Given the description of an element on the screen output the (x, y) to click on. 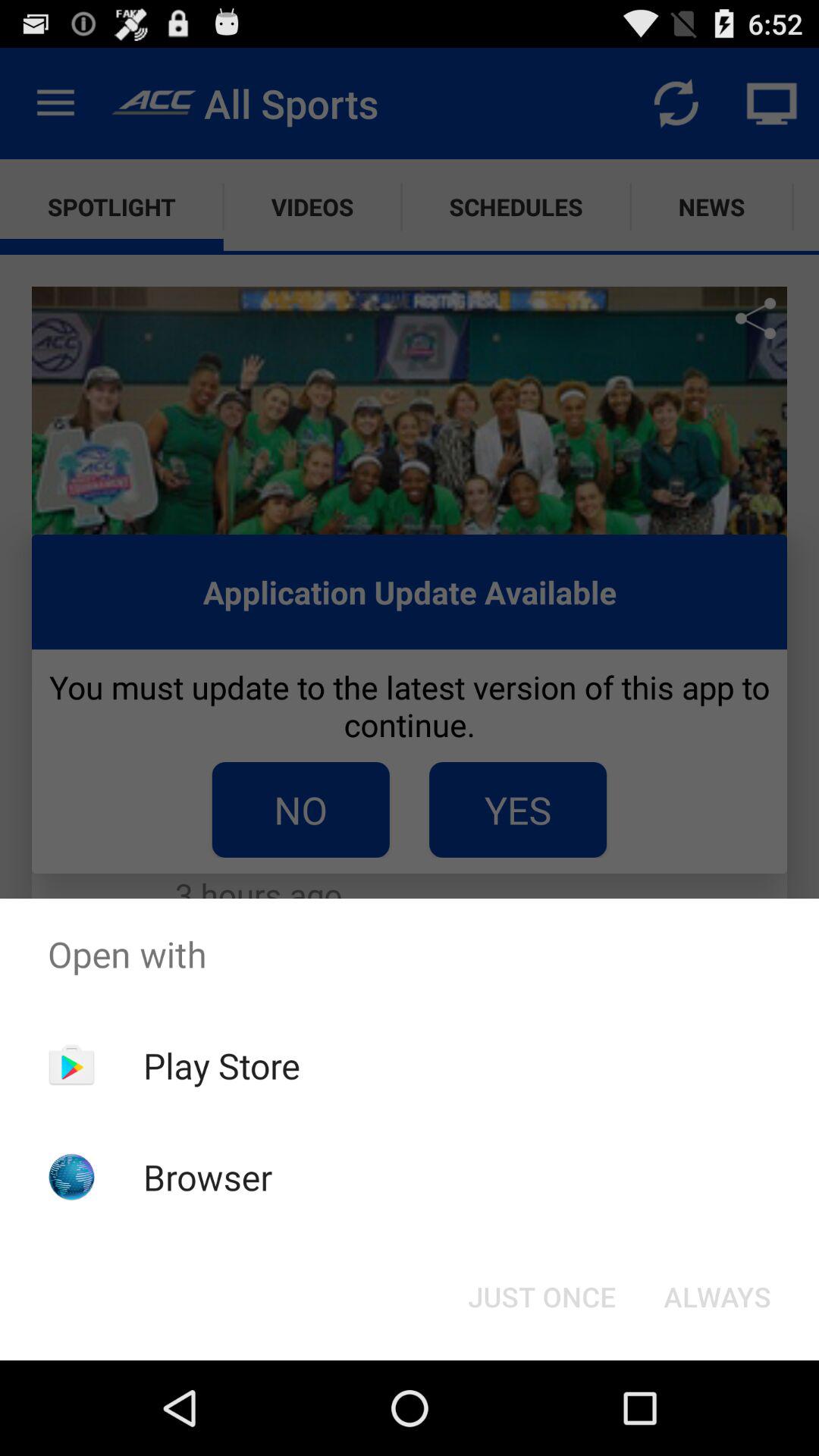
turn on the always at the bottom right corner (717, 1296)
